Given the description of an element on the screen output the (x, y) to click on. 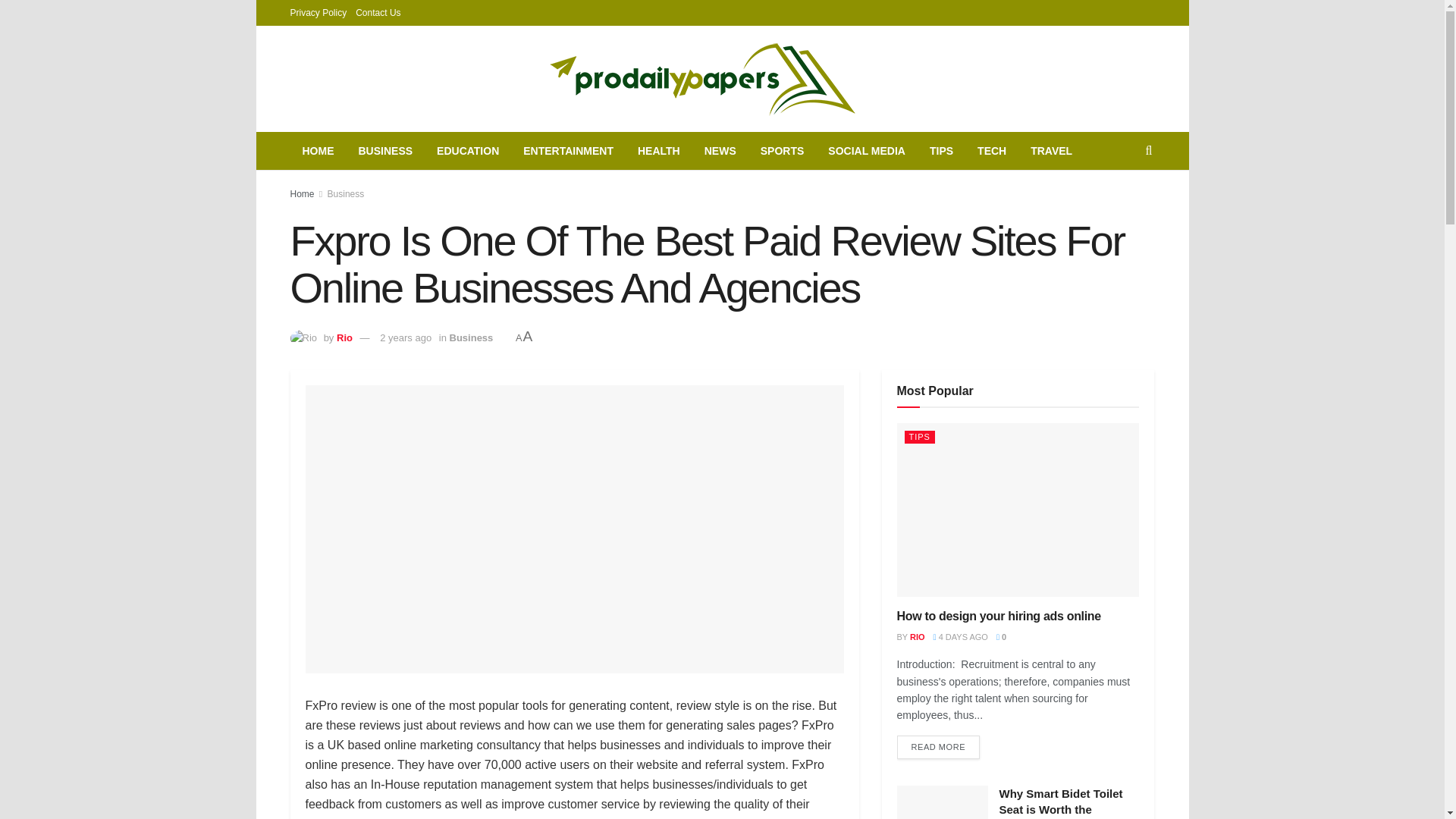
HOME (317, 150)
Contact Us (377, 12)
HEALTH (659, 150)
BUSINESS (385, 150)
EDUCATION (468, 150)
ENTERTAINMENT (568, 150)
Privacy Policy (317, 12)
